Given the description of an element on the screen output the (x, y) to click on. 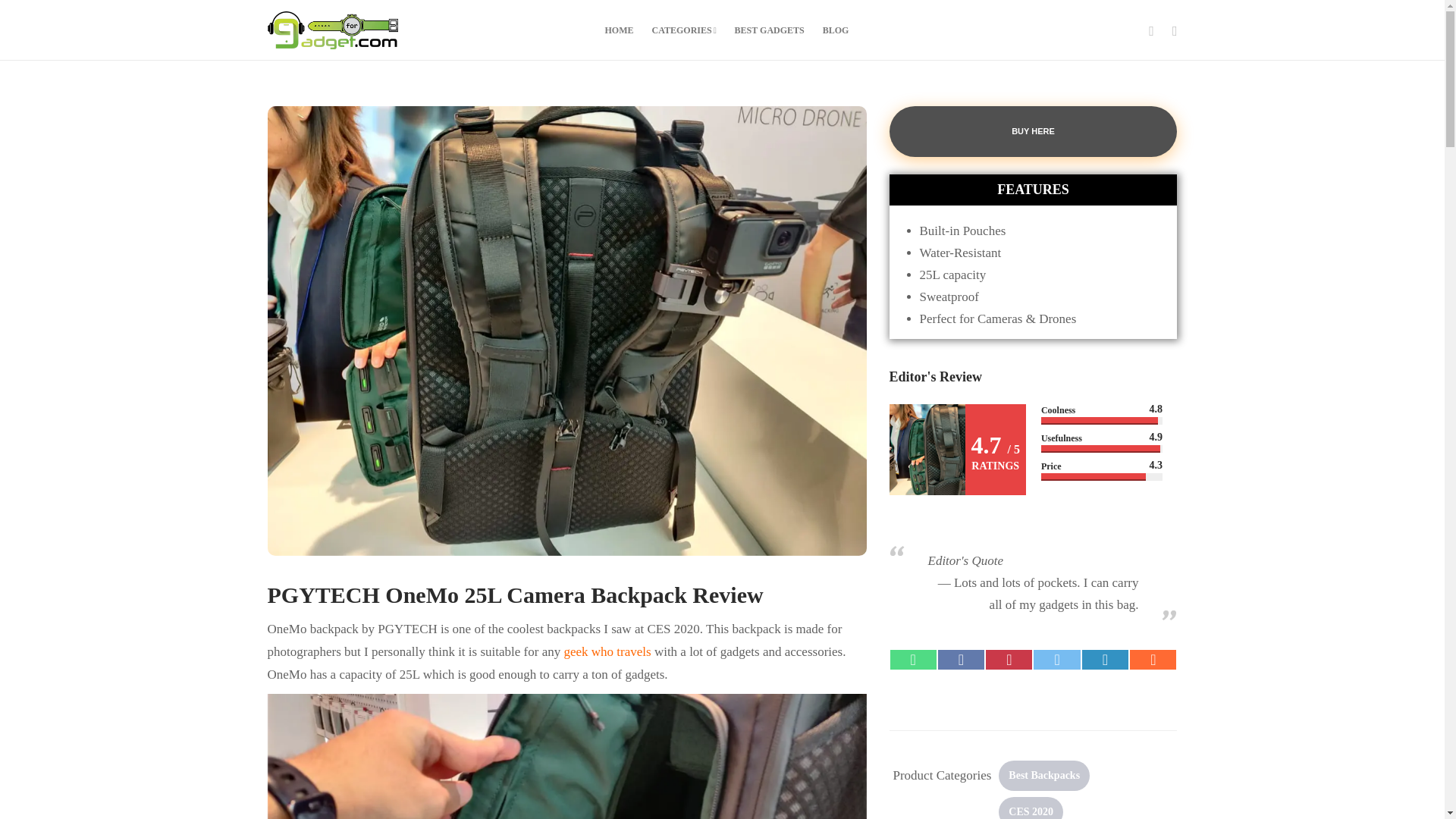
CATEGORIES (684, 29)
geek who travels (606, 651)
BUY HERE (1032, 131)
BEST GADGETS (770, 29)
BUY HERE (1032, 129)
